Given the description of an element on the screen output the (x, y) to click on. 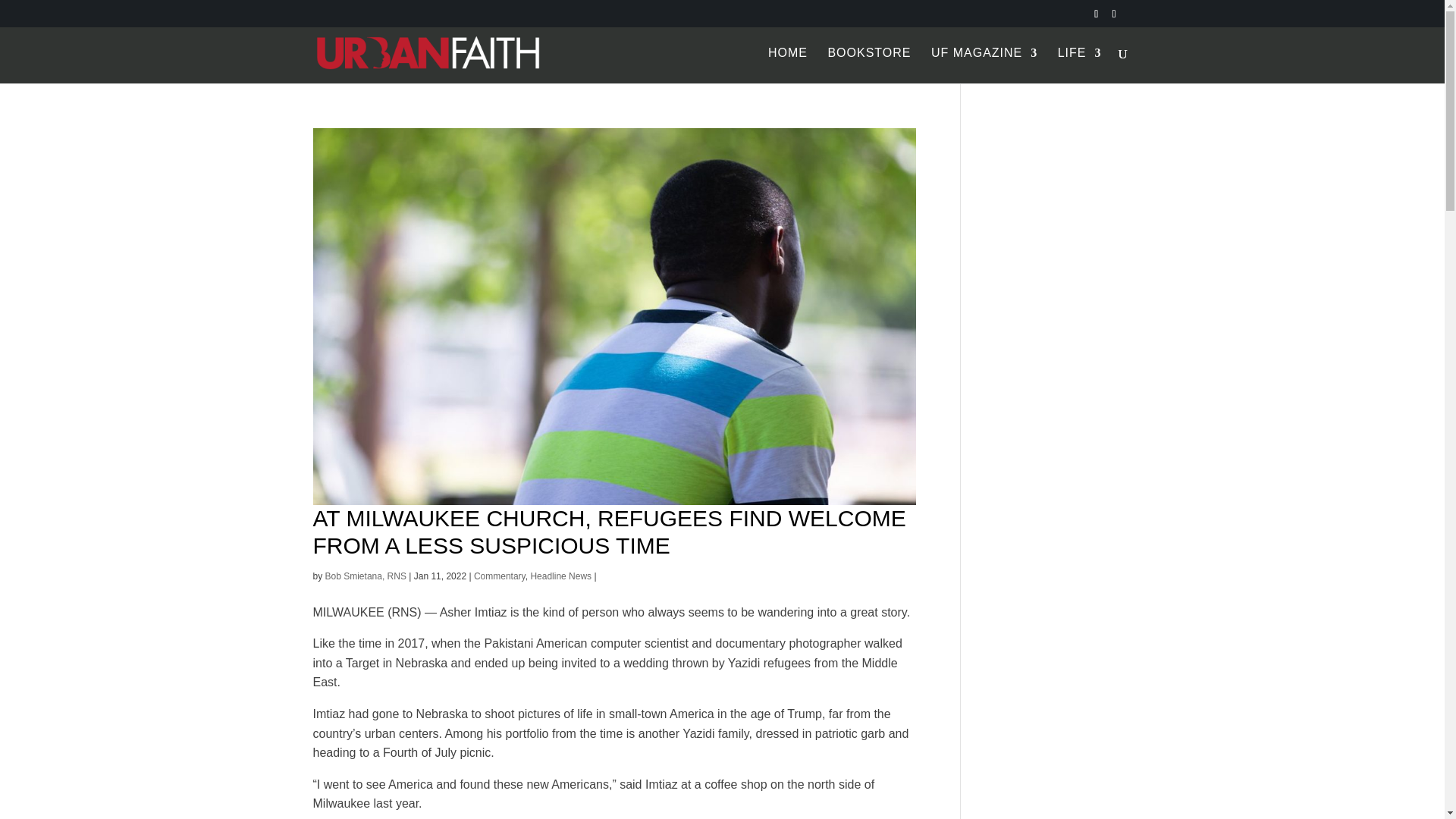
Commentary (499, 575)
Bob Smietana, RNS (365, 575)
LIFE (1080, 65)
Posts by Bob Smietana, RNS (365, 575)
BOOKSTORE (869, 65)
HOME (788, 65)
Headline News (560, 575)
UF MAGAZINE (983, 65)
